Given the description of an element on the screen output the (x, y) to click on. 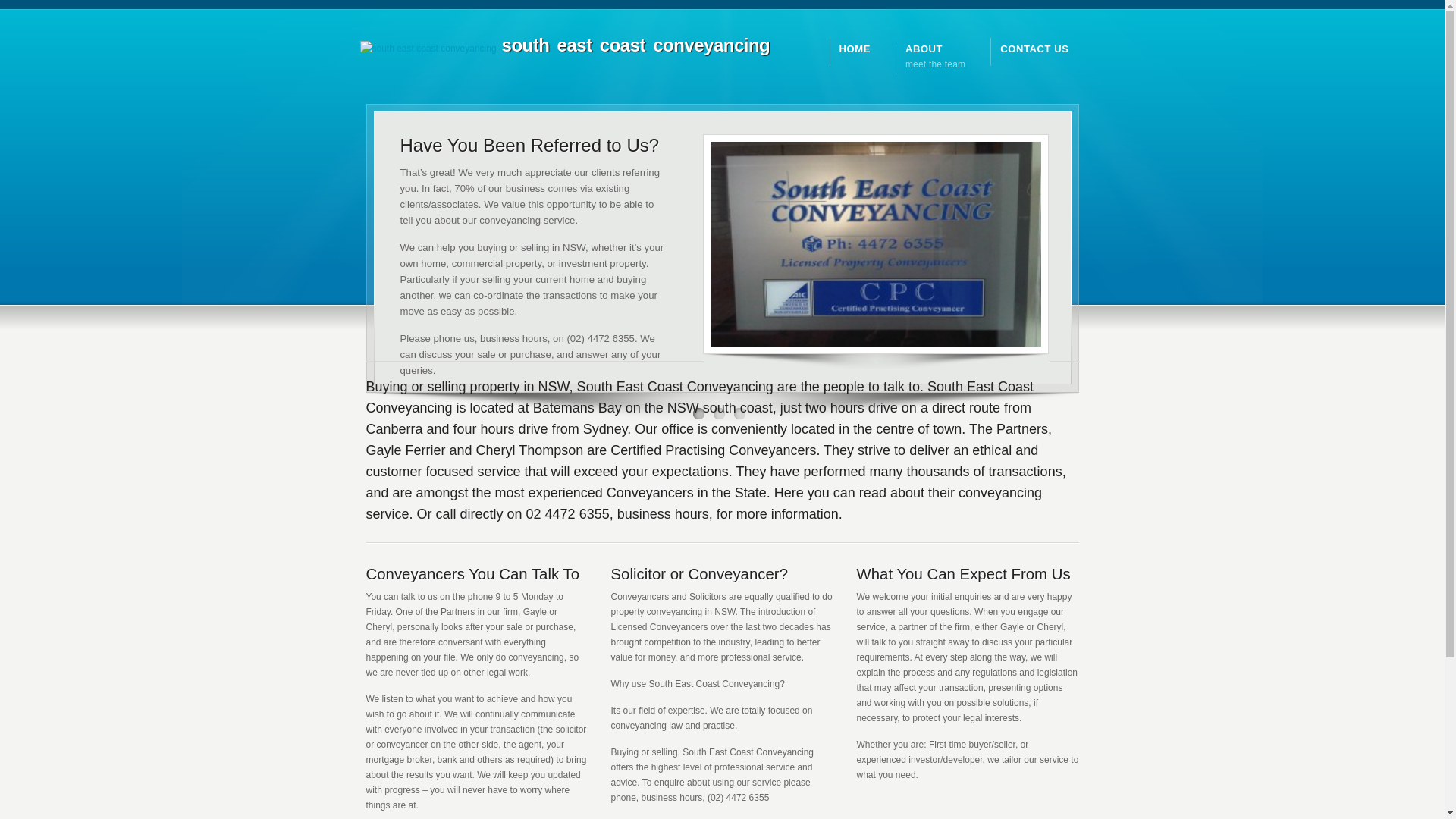
HOME Element type: text (854, 48)
2 Element type: text (718, 413)
ABOUT
meet the team Element type: text (935, 56)
3 Element type: text (739, 413)
CONTACT US Element type: text (1034, 48)
1 Element type: text (698, 413)
south east coast conveyancing Element type: text (564, 46)
